Given the description of an element on the screen output the (x, y) to click on. 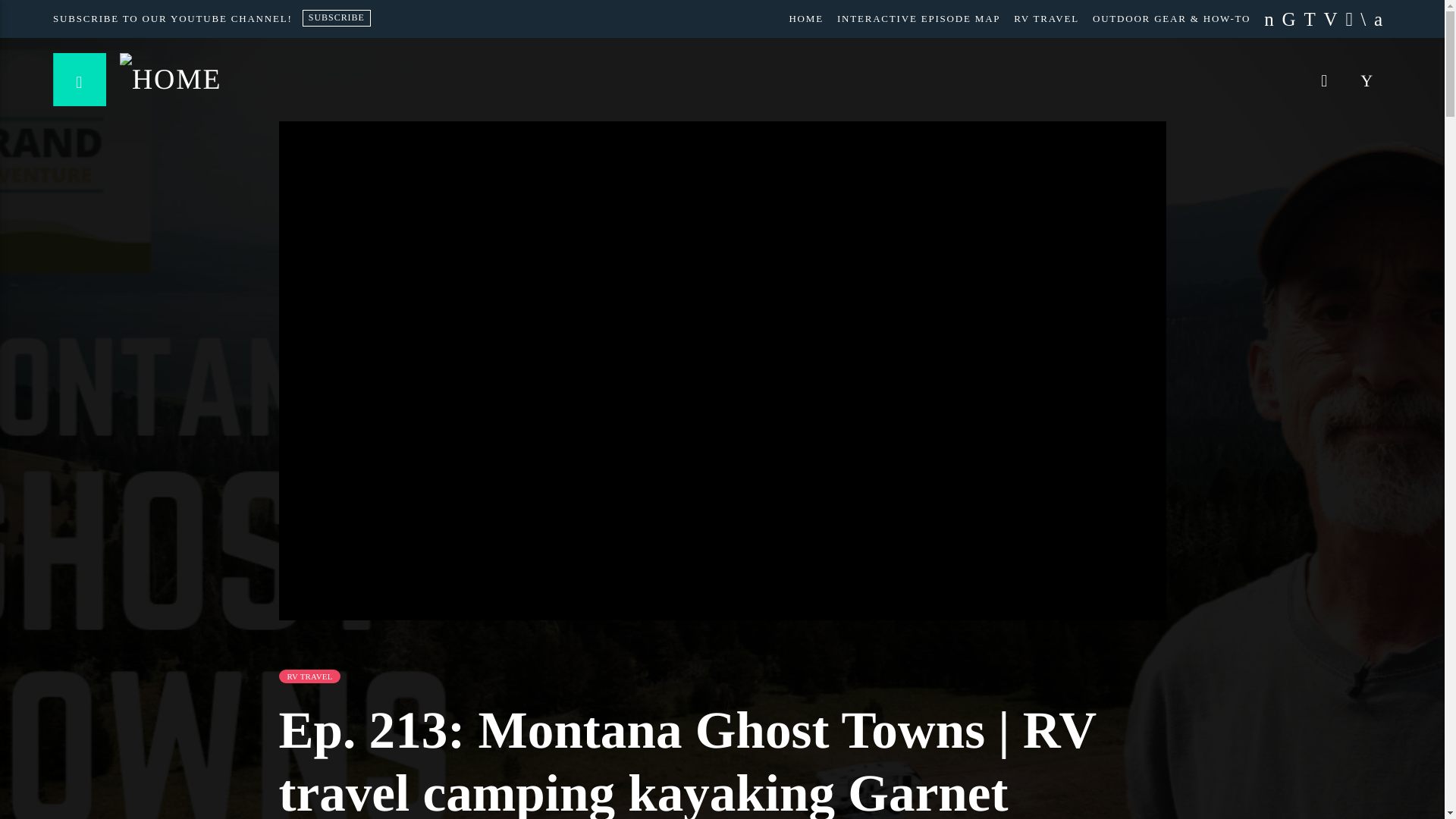
RV TRAVEL (1046, 18)
SUBSCRIBE (336, 17)
INTERACTIVE EPISODE MAP (918, 18)
HOME (805, 18)
